Given the description of an element on the screen output the (x, y) to click on. 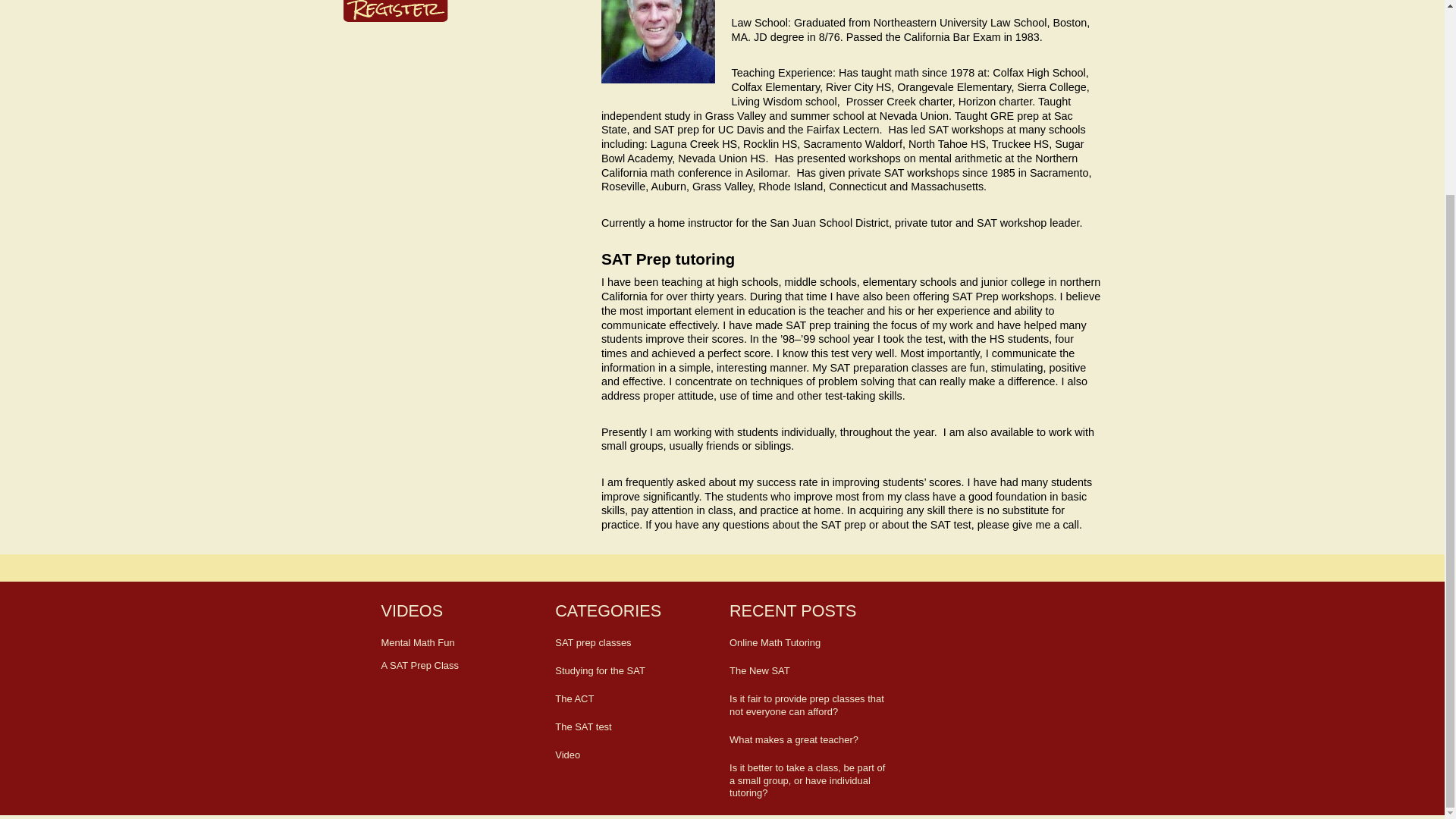
Studying for the SAT (634, 671)
The New SAT (809, 671)
Mental Math Fun (417, 642)
Online Math Tutoring (809, 643)
A SAT Prep Class (419, 665)
The SAT test (634, 727)
